Given the description of an element on the screen output the (x, y) to click on. 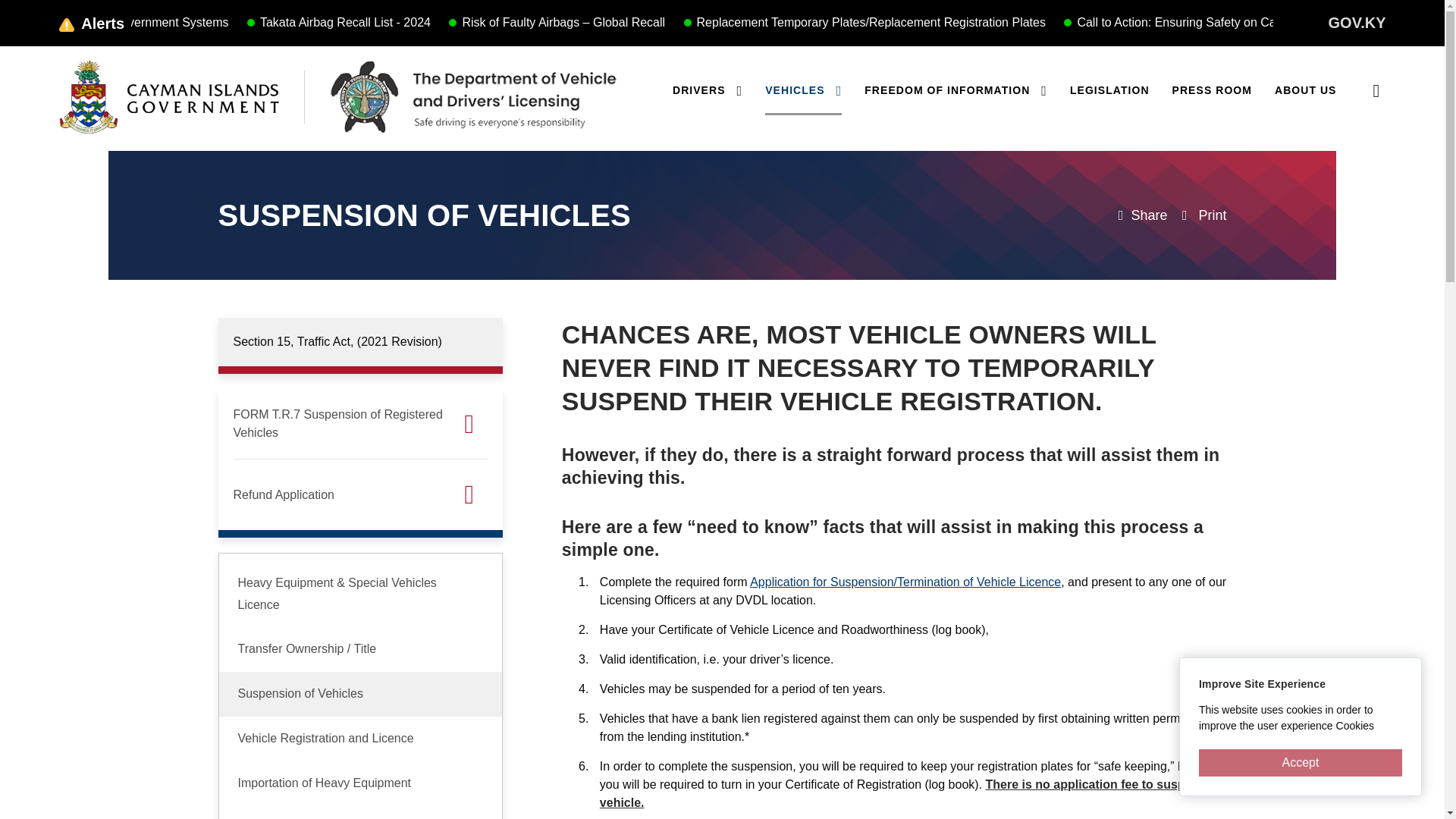
Global Issue Affects Cayman Islands Government Systems (298, 21)
Search (1376, 90)
GOV.KY (1356, 22)
Drivers (707, 96)
Cayman Islands Government (169, 96)
Gov.ky (1356, 22)
VEHICLES (803, 96)
DRIVERS (707, 96)
Takata Airbag Recall List - 2024 (571, 21)
